Given the description of an element on the screen output the (x, y) to click on. 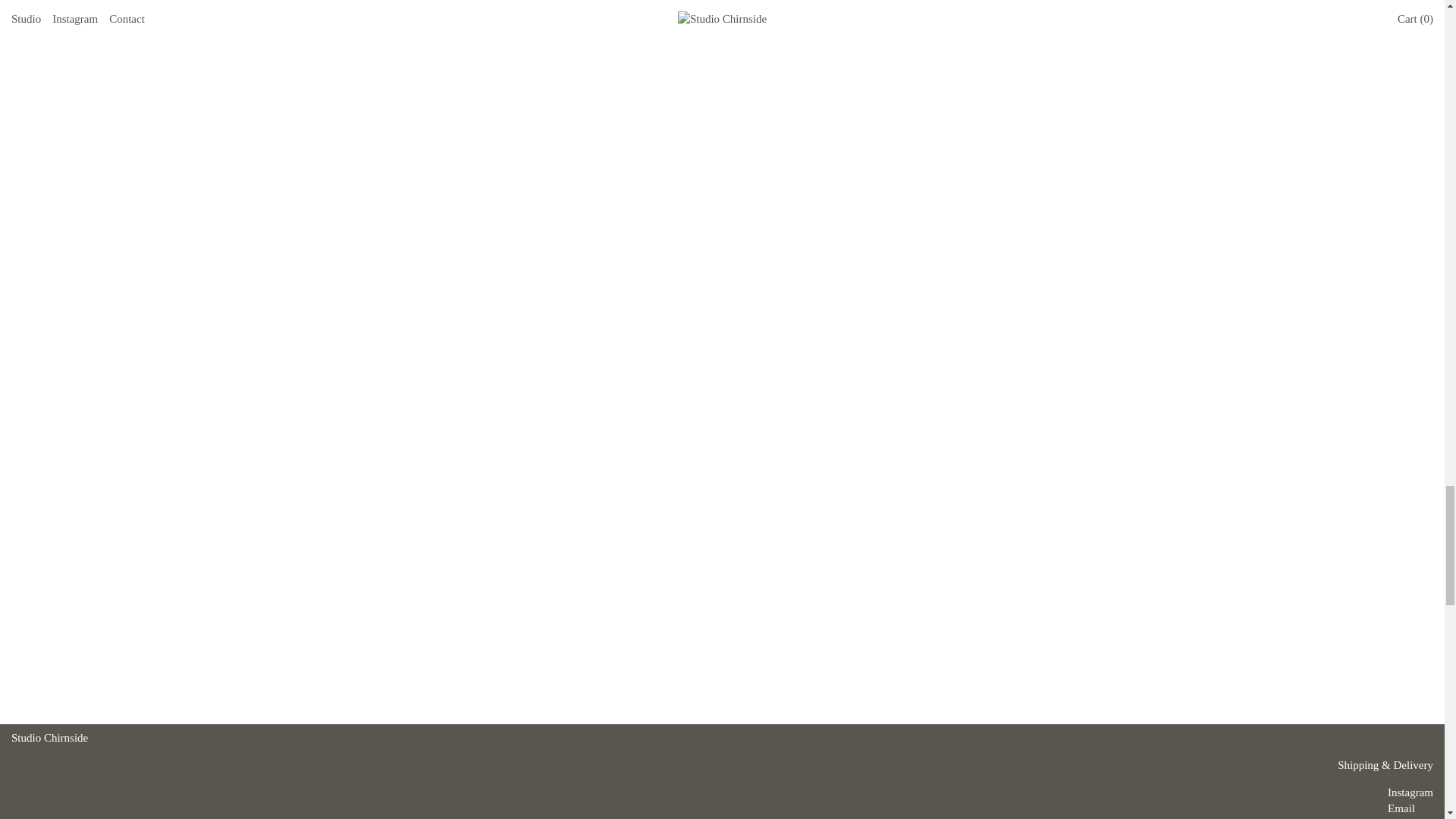
Email (1401, 808)
Instagram (1409, 792)
Studio Chirnside (49, 737)
